Given the description of an element on the screen output the (x, y) to click on. 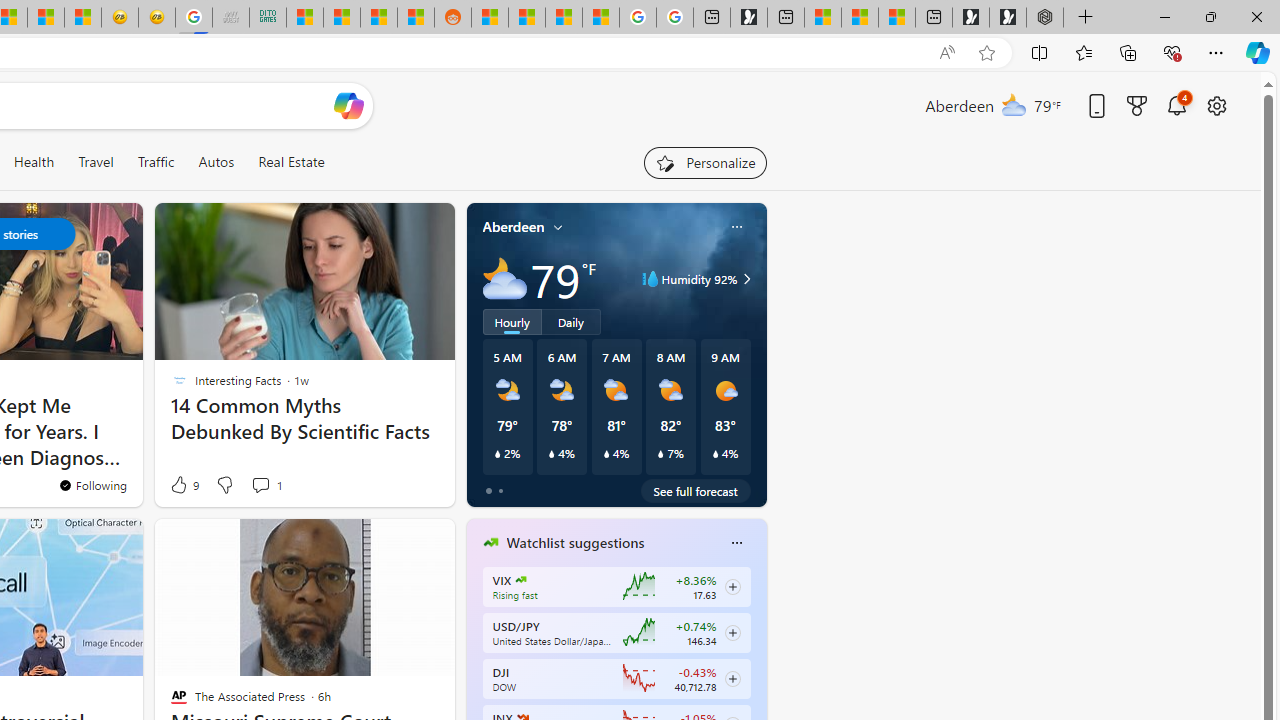
R******* | Trusted Community Engagement and Contributions (490, 17)
Humidity 92% (744, 278)
